Given the description of an element on the screen output the (x, y) to click on. 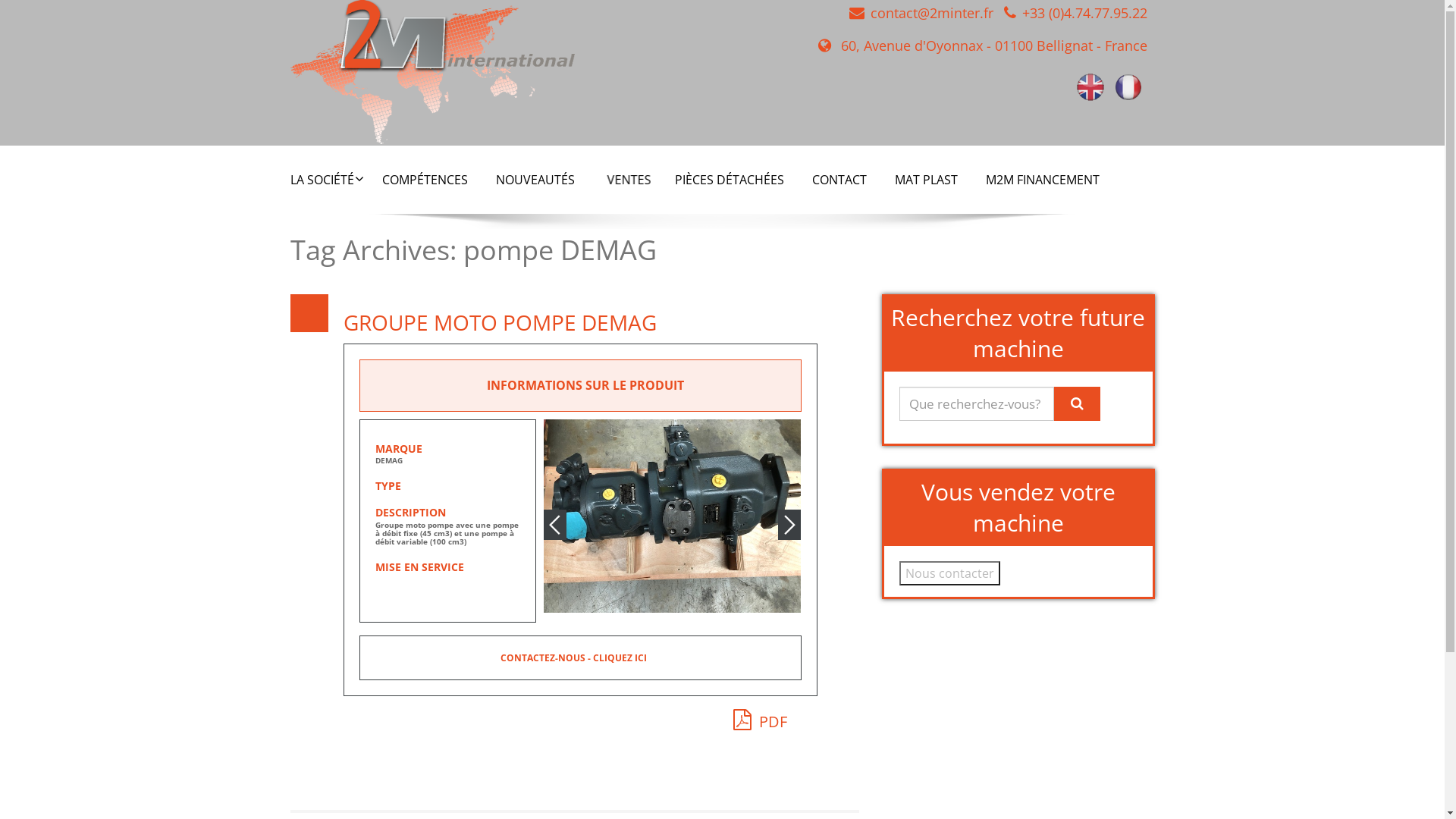
Previous Element type: text (554, 524)
PDF Element type: text (759, 718)
+33 (0)4.74.77.95.22 Element type: text (1084, 12)
VENTES Element type: text (630, 179)
contact@2minter.fr Element type: text (931, 12)
MAT PLAST Element type: text (925, 179)
English Element type: hover (1089, 85)
1 Element type: text (656, 607)
3 Element type: text (677, 607)
CONTACTEZ-NOUS - CLIQUEZ ICI Element type: text (573, 657)
2 Element type: text (667, 607)
French Element type: hover (1127, 85)
4 Element type: text (688, 607)
Next Element type: text (789, 524)
CONTACT Element type: text (839, 179)
M2M FINANCEMENT Element type: text (1041, 179)
GROUPE MOTO POMPE DEMAG Element type: text (498, 321)
2M International Element type: hover (431, 67)
